Given the description of an element on the screen output the (x, y) to click on. 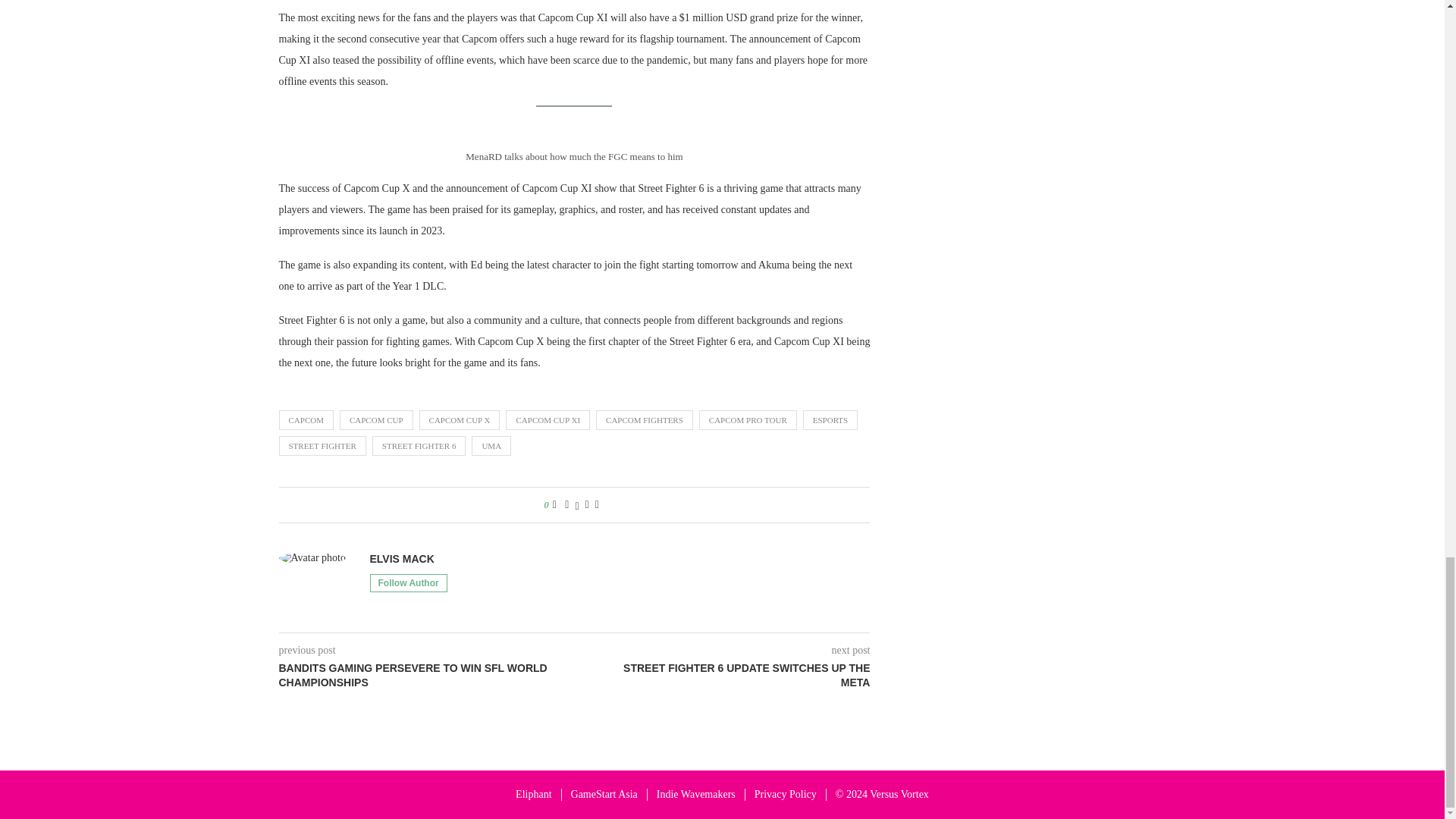
CAPCOM (306, 419)
CAPCOM CUP (376, 419)
Author Elvis Mack (401, 559)
CAPCOM CUP XI (547, 419)
CAPCOM PRO TOUR (747, 419)
ESPORTS (830, 419)
STREET FIGHTER (322, 445)
CAPCOM CUP X (459, 419)
CAPCOM FIGHTERS (644, 419)
